Given the description of an element on the screen output the (x, y) to click on. 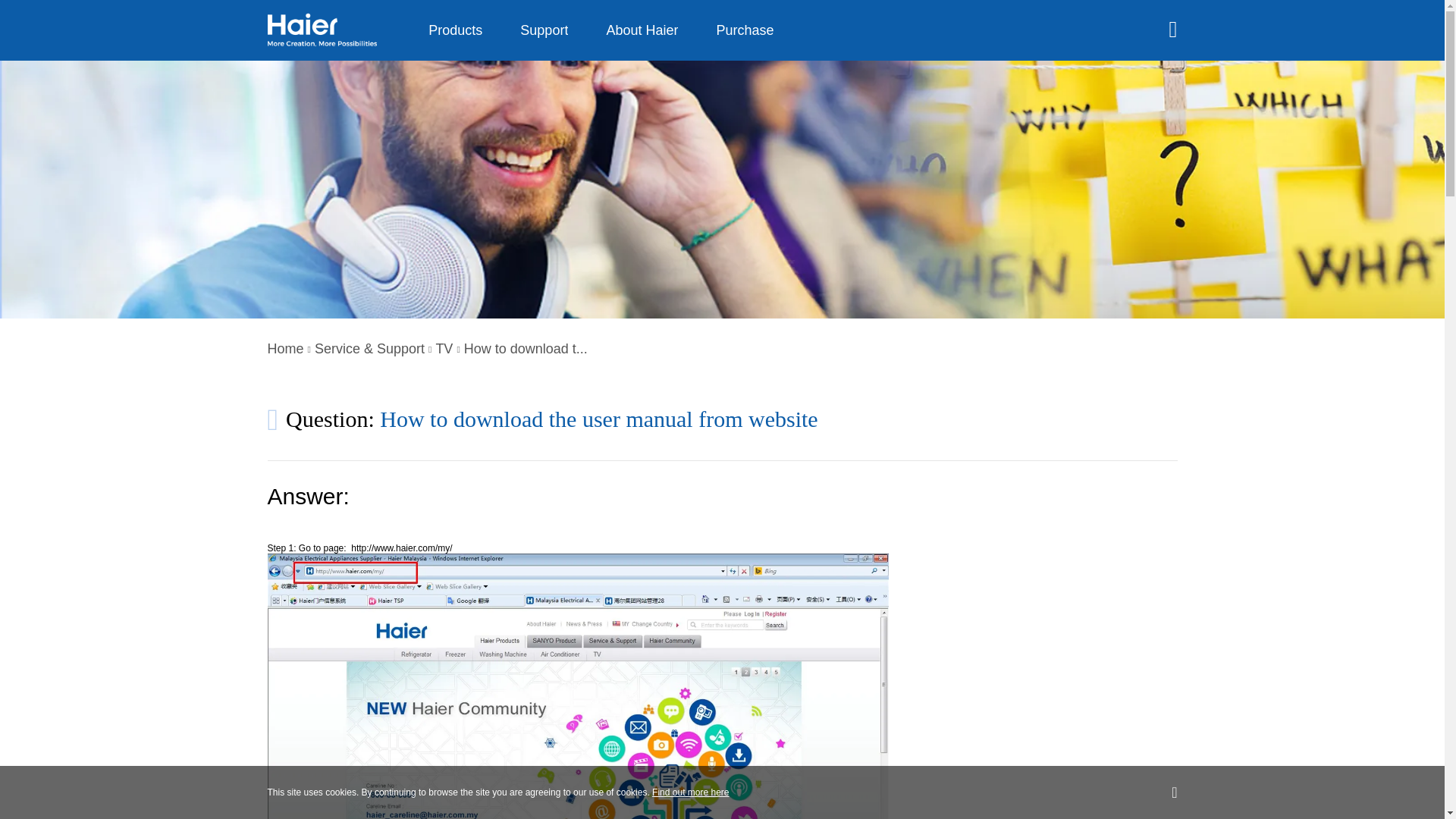
TV (443, 348)
Home (284, 348)
Products (455, 30)
Support (544, 30)
Find out more here (690, 792)
Purchase (744, 30)
About Haier (642, 30)
